Given the description of an element on the screen output the (x, y) to click on. 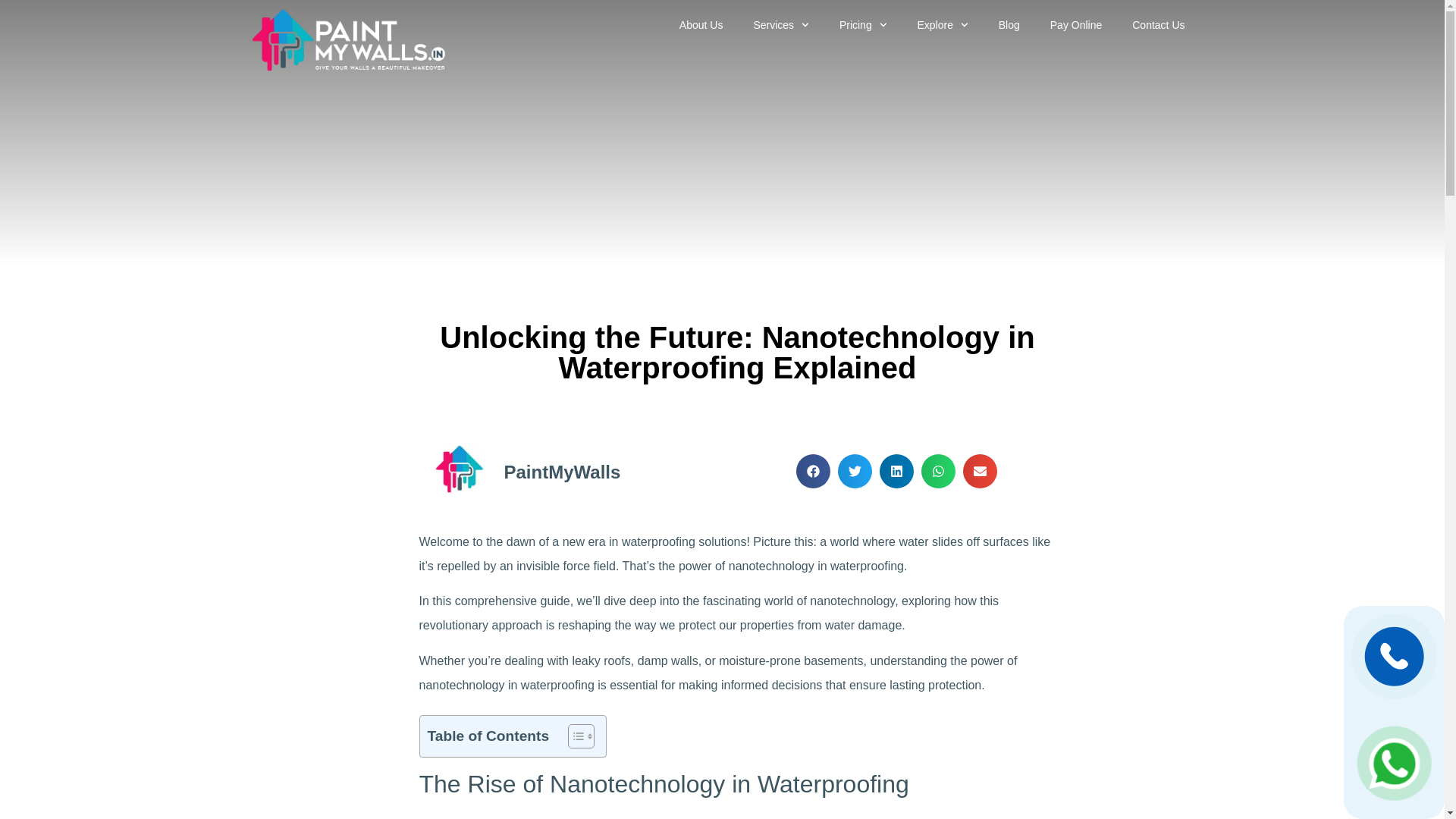
Explore (941, 24)
Services (781, 24)
Pay Online (1075, 24)
Contact Us (1157, 24)
Pricing (863, 24)
Blog (1009, 24)
About Us (700, 24)
